Given the description of an element on the screen output the (x, y) to click on. 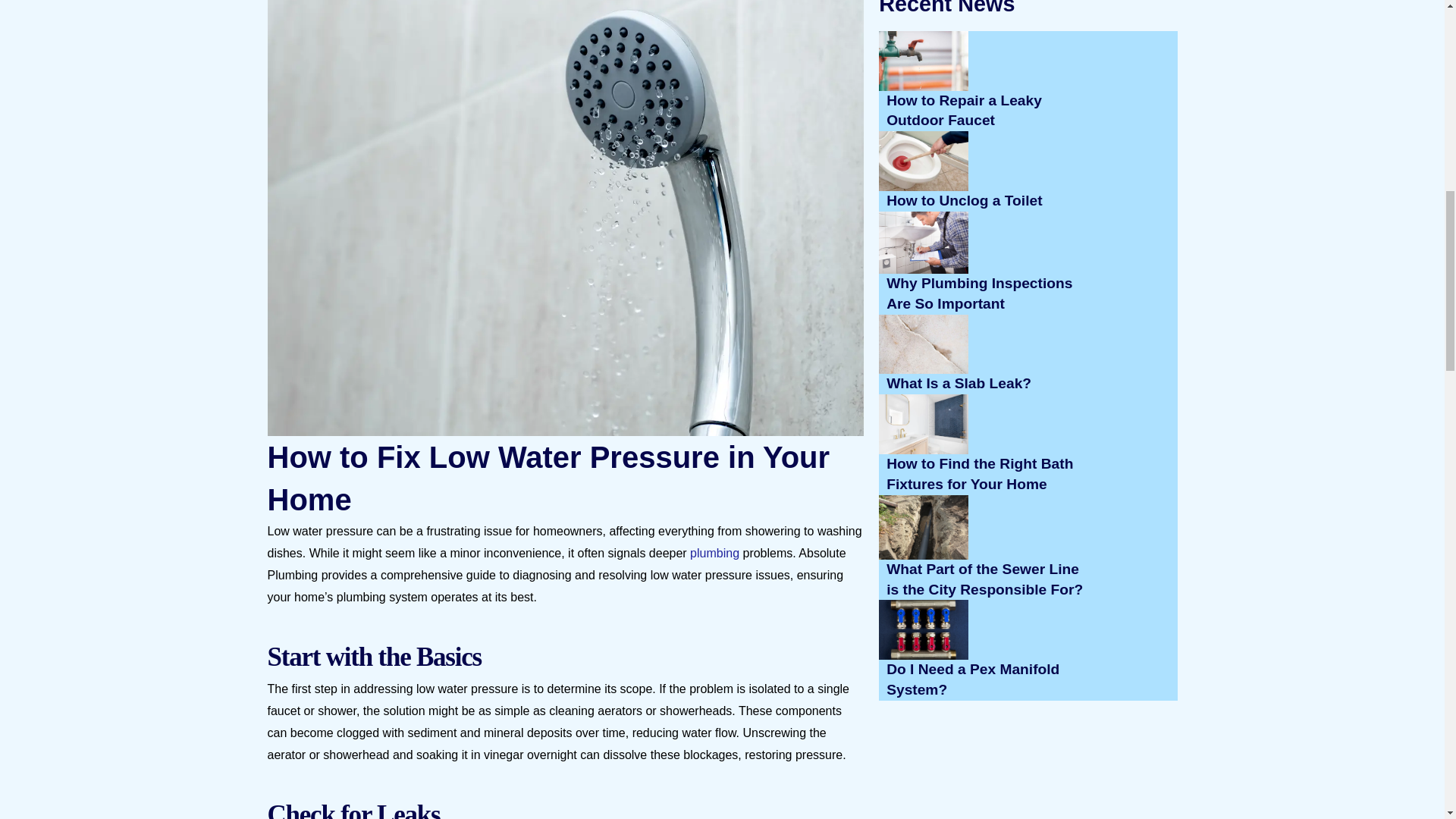
What Is a Slab Leak? (1027, 353)
How to Unclog a Toilet (1027, 170)
How to Find the Right Bath Fixtures for Your Home (1027, 443)
Why Plumbing Inspections Are So Important (1027, 262)
What Part of the Sewer Line is the City Responsible For? (1027, 547)
How to Repair a Leaky Outdoor Faucet (1027, 81)
plumbing (714, 553)
